Given the description of an element on the screen output the (x, y) to click on. 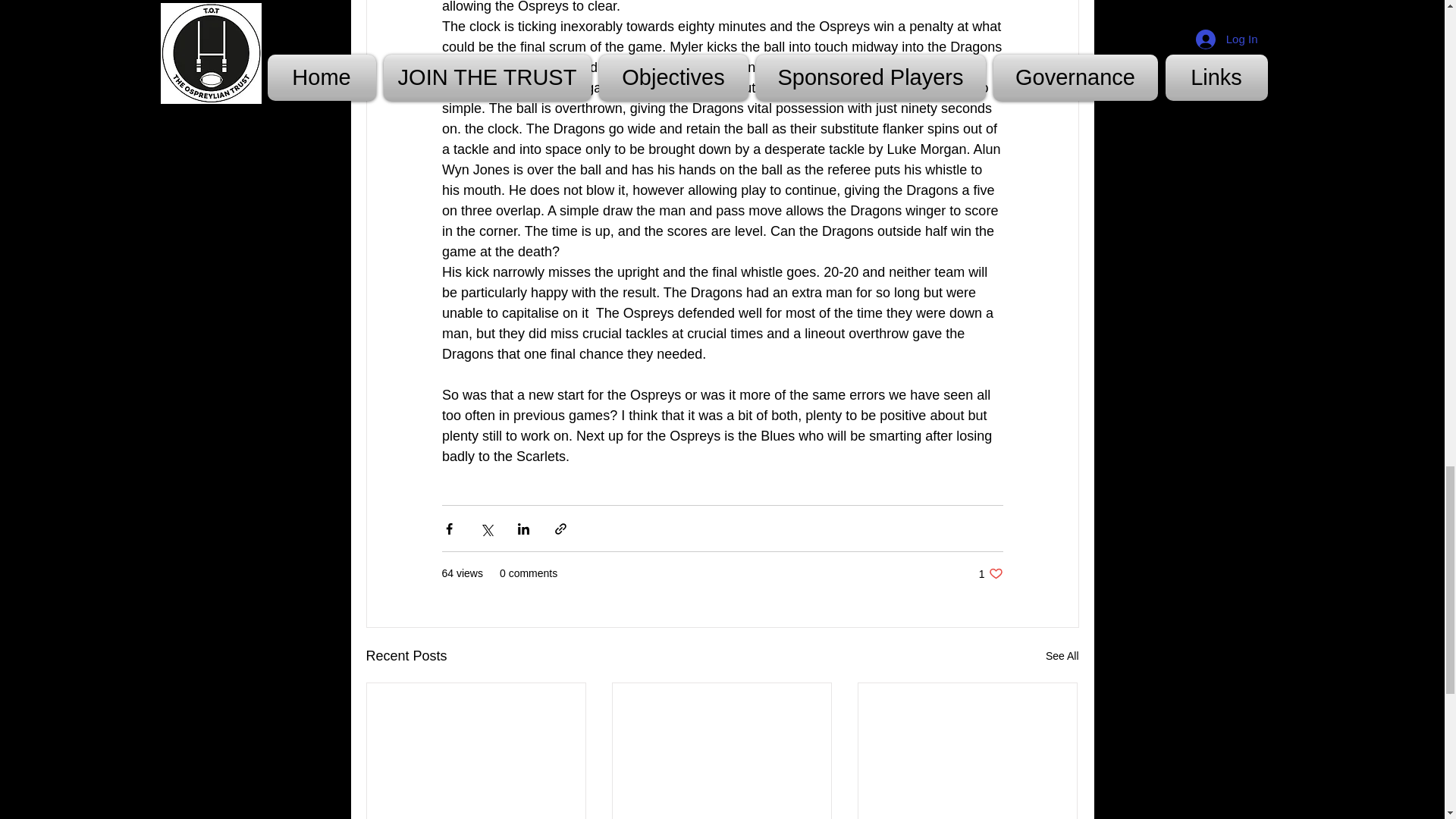
See All (1061, 656)
